Given the description of an element on the screen output the (x, y) to click on. 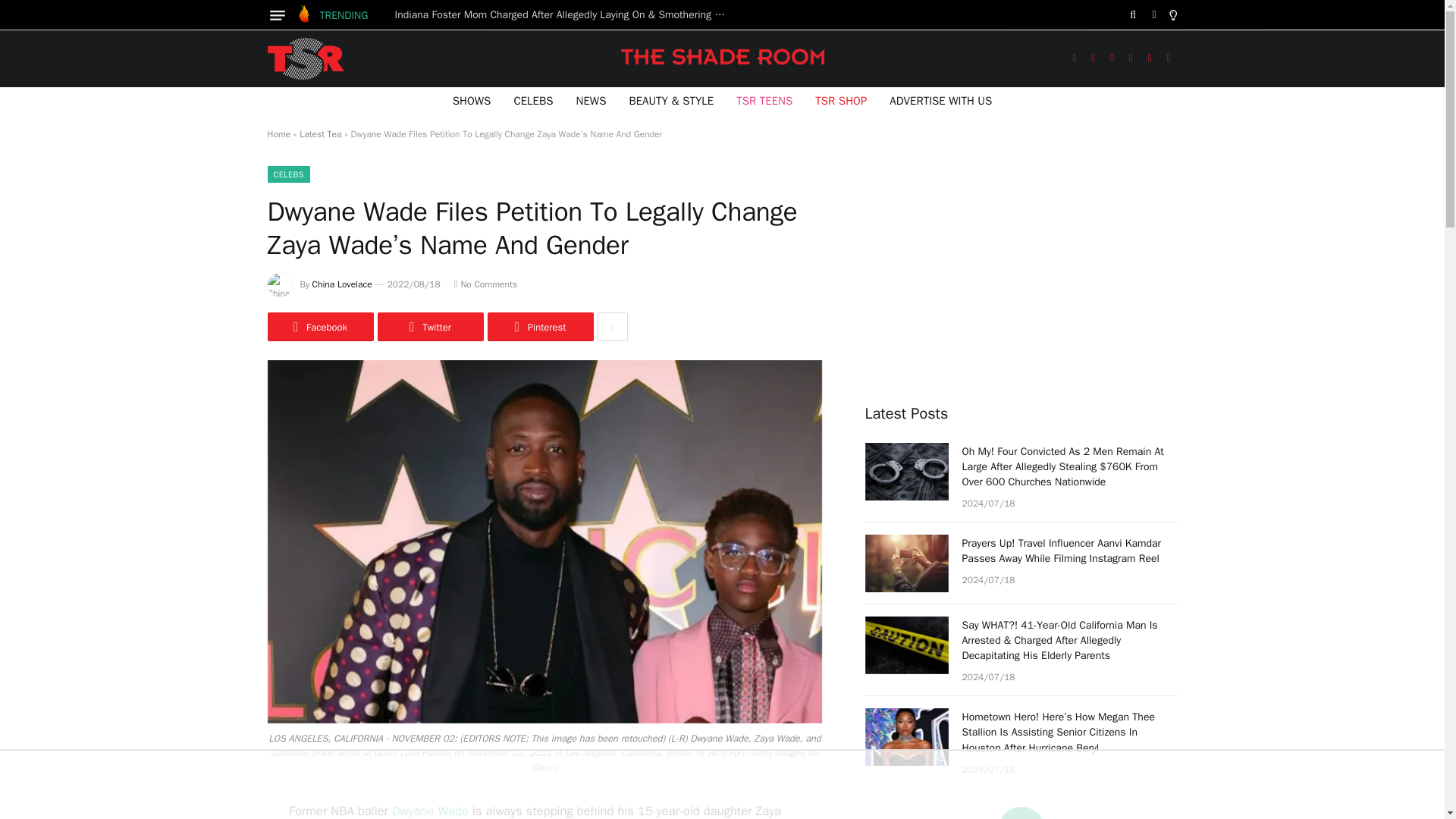
TikTok (1149, 58)
Snapchat (1168, 58)
The Shade Room (304, 58)
Instagram (1112, 58)
SHOWS (471, 99)
Facebook (1074, 58)
Show More Social Sharing (611, 326)
Posts by China Lovelace (342, 284)
Share on Facebook (319, 326)
Search (1132, 14)
Share on Pinterest (539, 326)
YouTube (1131, 58)
Switch to Dark Design - easier on eyes. (1153, 14)
